Given the description of an element on the screen output the (x, y) to click on. 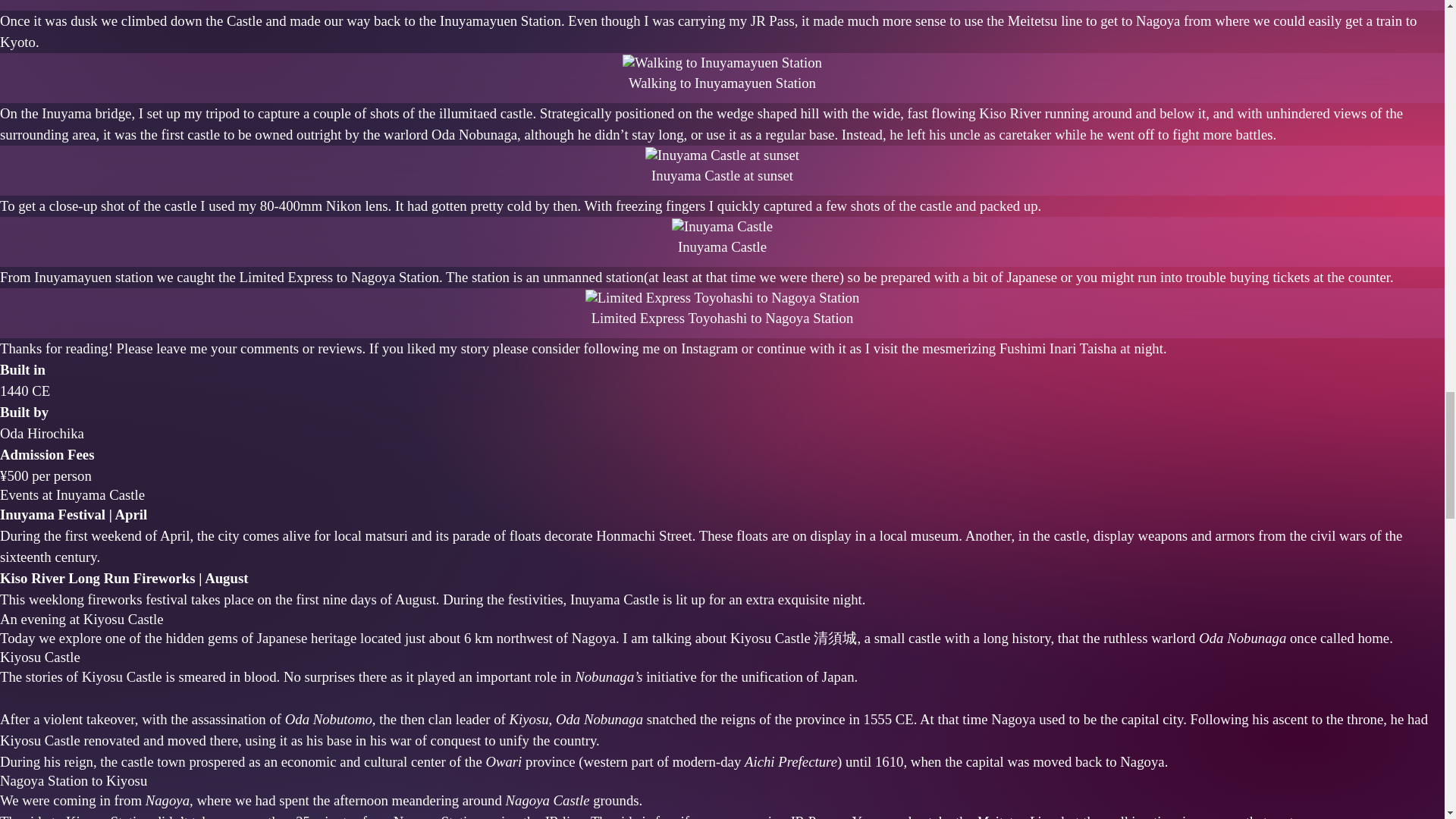
Fushimi Inari Taisha at night (1080, 348)
Instagram (709, 348)
